Given the description of an element on the screen output the (x, y) to click on. 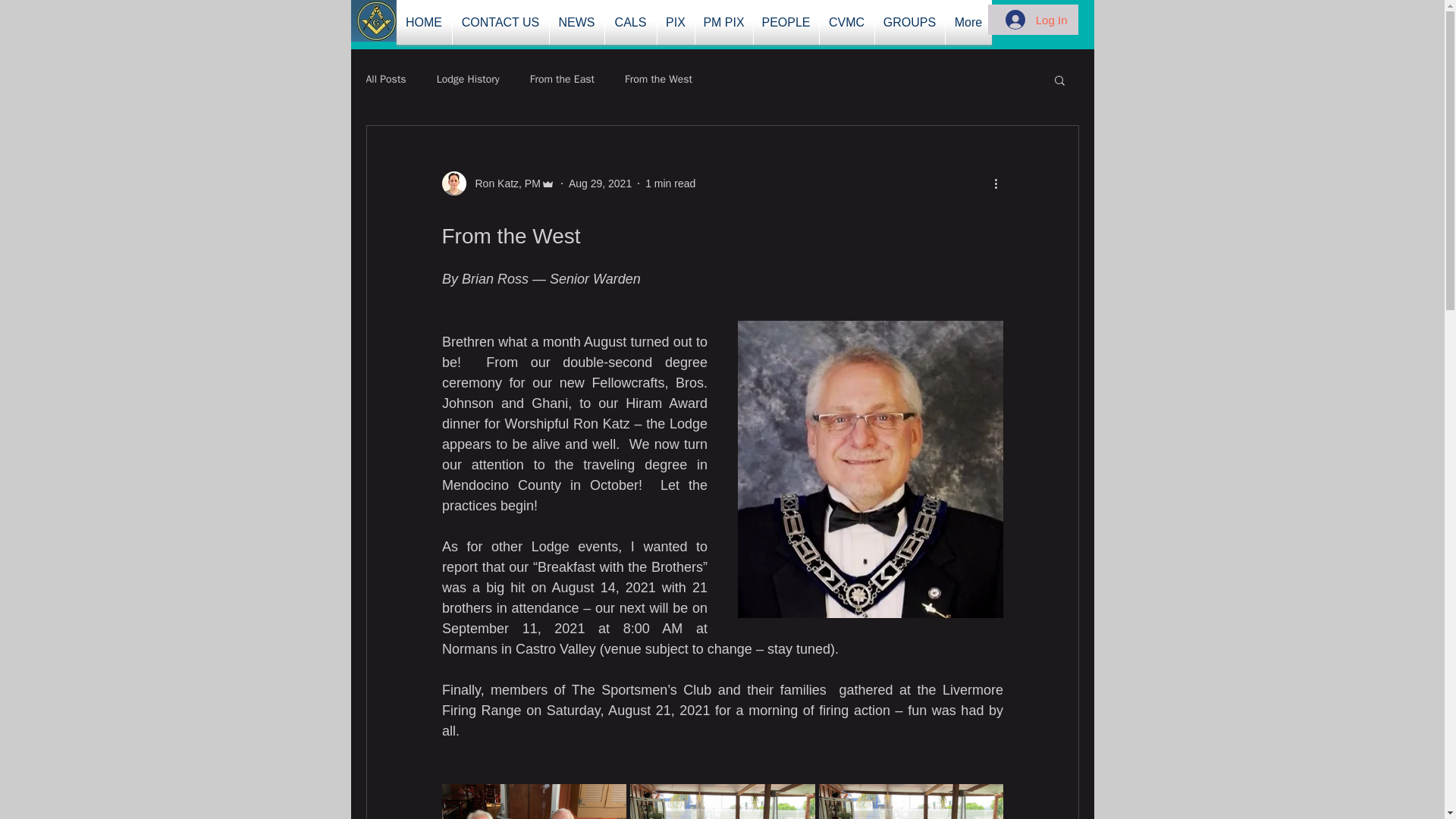
PEOPLE (786, 22)
CVMC (845, 22)
Aug 29, 2021 (600, 183)
sandcbluegold.jpeg (375, 20)
1 min read (670, 183)
HOME (423, 22)
CONTACT US (499, 22)
Ron Katz, PM (502, 183)
GROUPS (909, 22)
CALS (630, 22)
